Given the description of an element on the screen output the (x, y) to click on. 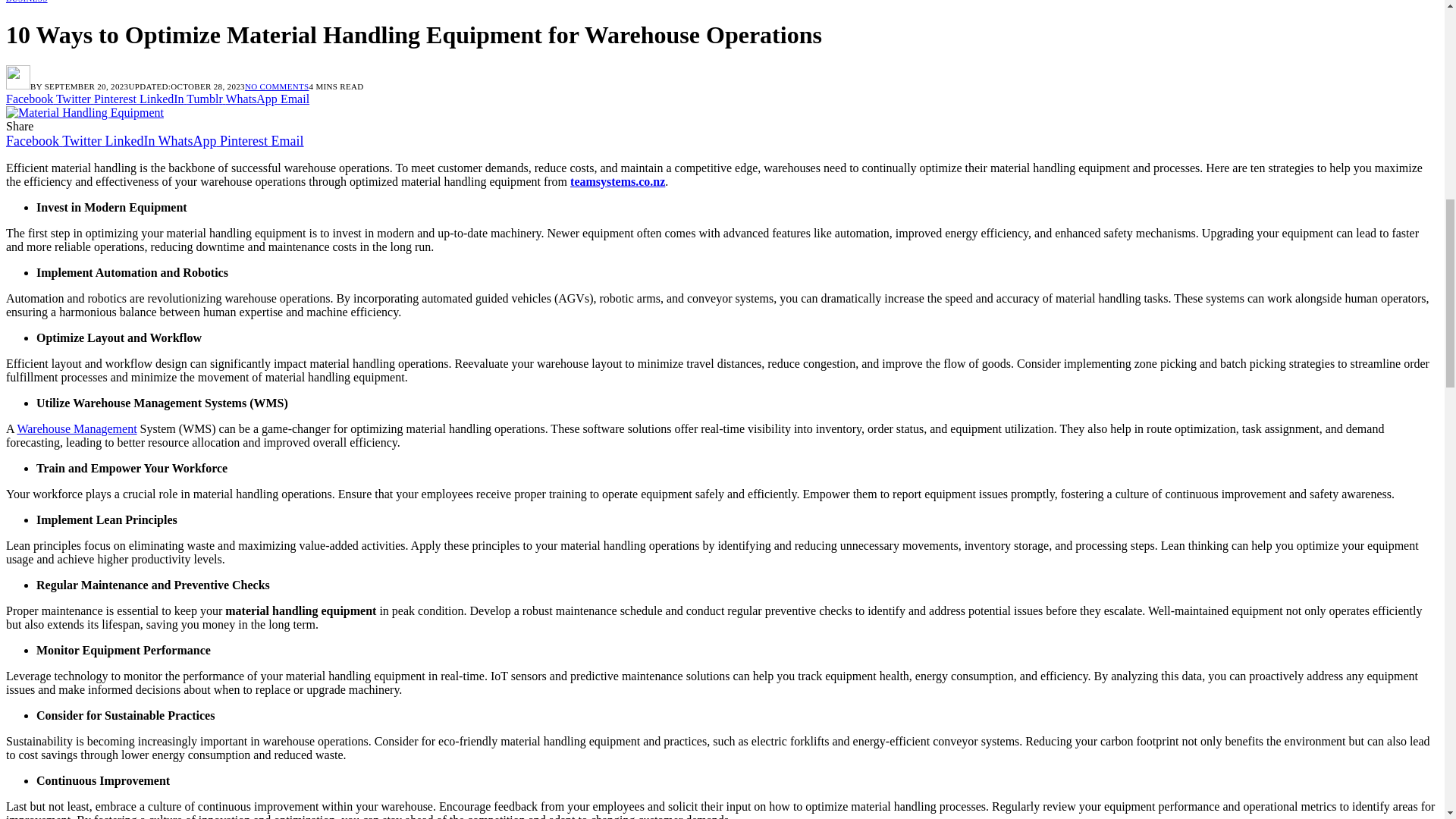
Share on LinkedIn (162, 98)
Twitter (83, 140)
Share on Facebook (30, 98)
Share on WhatsApp (252, 98)
Share on Tumblr (205, 98)
Share on Pinterest (116, 98)
Share via Email (294, 98)
Facebook (33, 140)
